Given the description of an element on the screen output the (x, y) to click on. 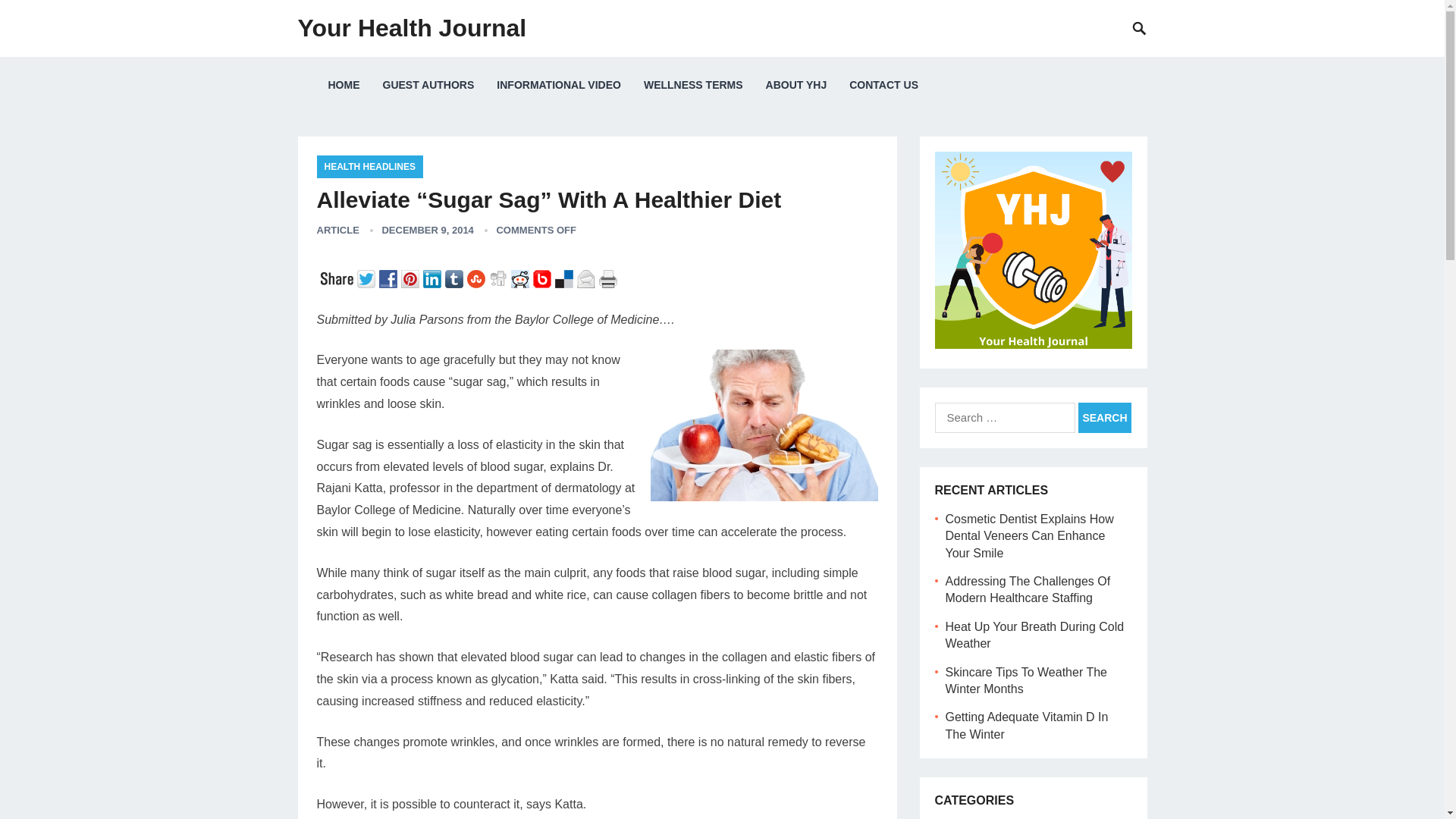
Bebo (543, 277)
Search (1104, 417)
INFORMATIONAL VIDEO (557, 84)
Email (587, 277)
Linkedin (434, 277)
WELLNESS TERMS (692, 84)
Print (609, 277)
View all posts in Health Headlines (370, 166)
Delicious (565, 277)
Tumblr (454, 277)
StumbleUpon (478, 277)
Digg (499, 277)
HEALTH HEADLINES (370, 166)
Search (1104, 417)
Your Health Journal (411, 28)
